Given the description of an element on the screen output the (x, y) to click on. 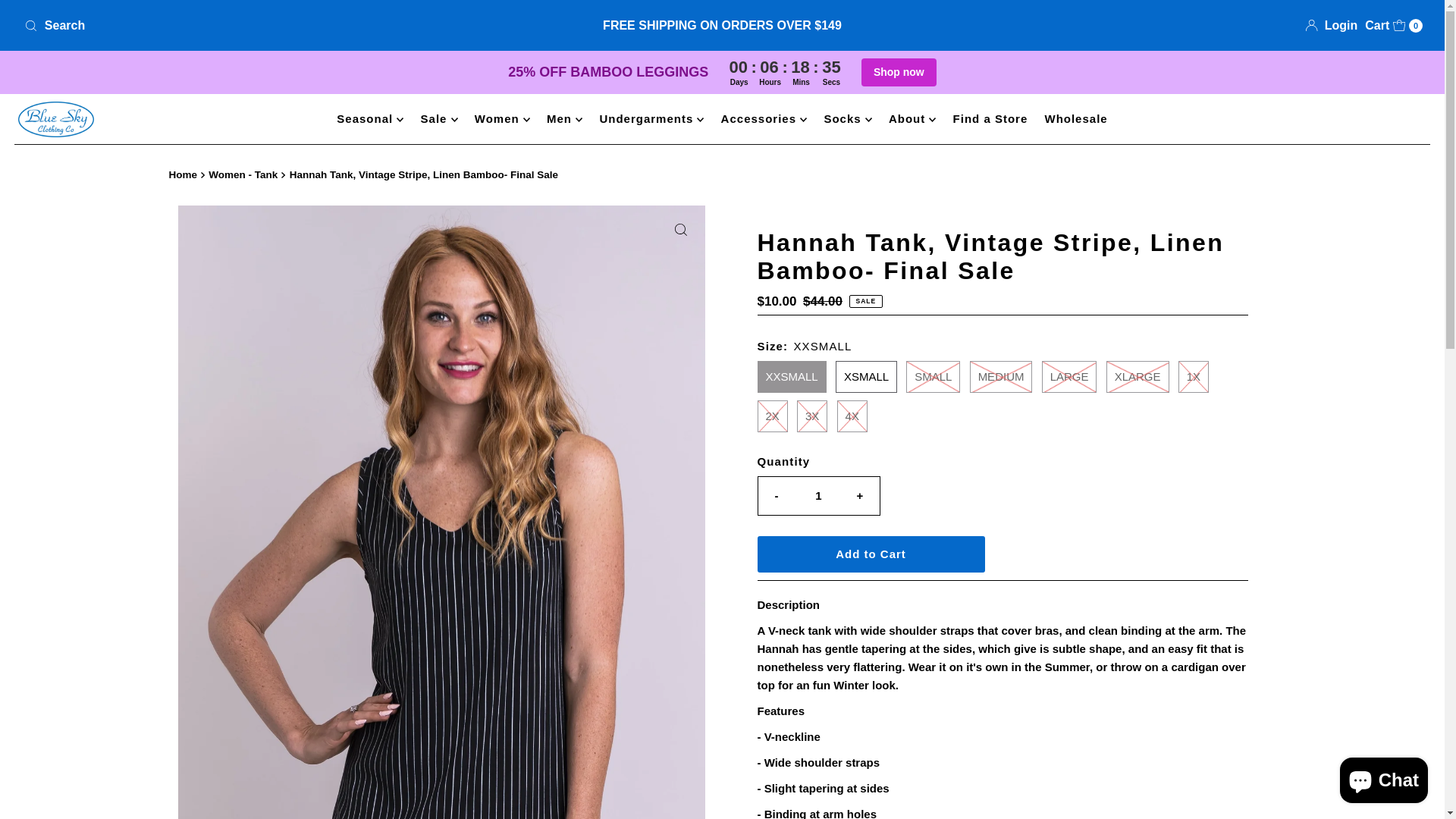
1 (818, 495)
Add to Cart (870, 554)
Shop now (898, 72)
Back to the frontpage (184, 175)
Women - Tank (244, 174)
Search our store (248, 25)
  Login (1331, 25)
Skip to content (57, 18)
